Given the description of an element on the screen output the (x, y) to click on. 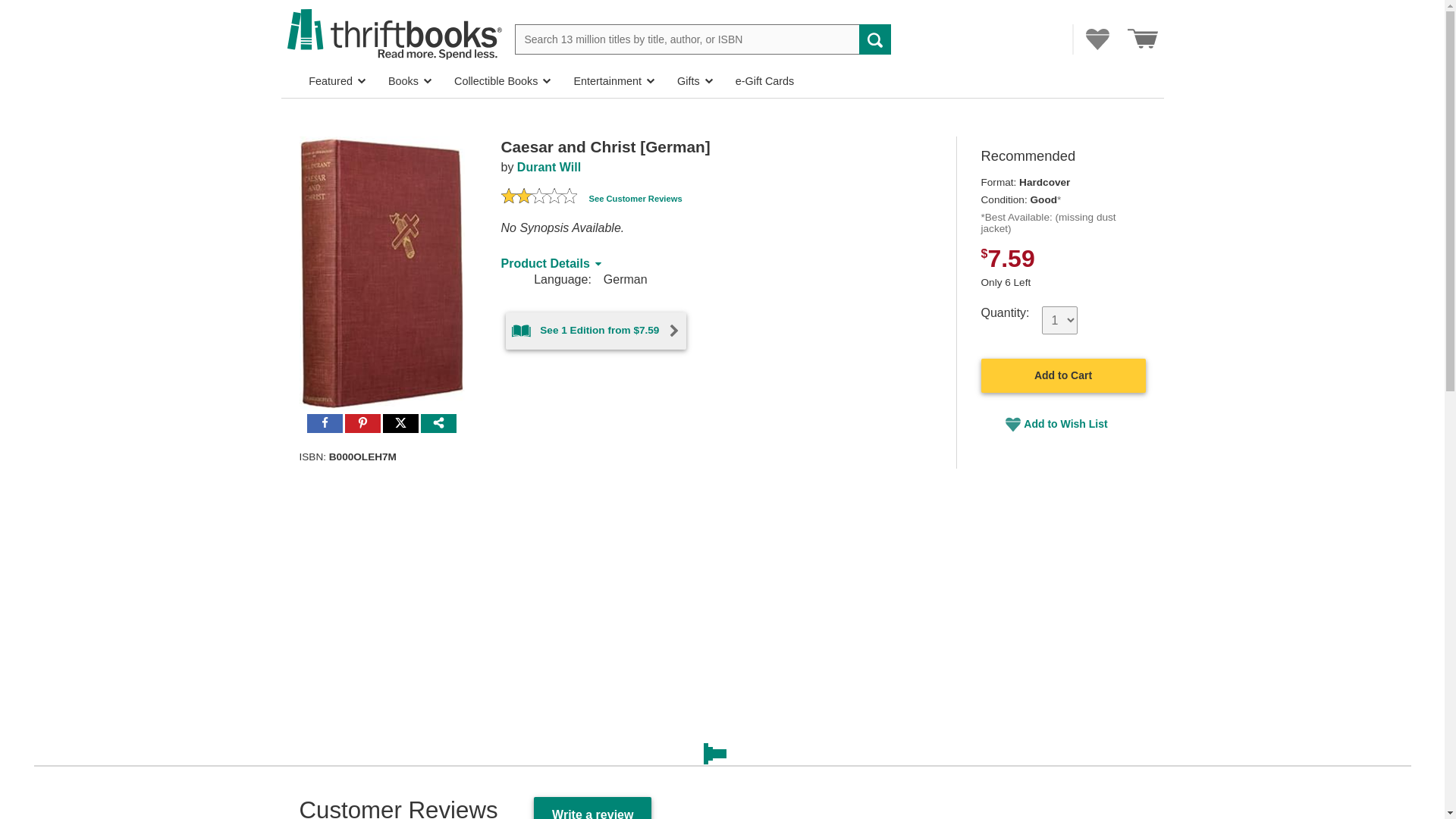
Share to Twitter (400, 423)
Collectible Books (502, 81)
Write a review (592, 807)
Books (409, 81)
Durant Will (548, 166)
Add to Cart (1063, 375)
Log in to rate this book (538, 198)
Log in to rate this book (507, 198)
Log in to rate this book (523, 198)
See Customer Reviews (634, 198)
